Given the description of an element on the screen output the (x, y) to click on. 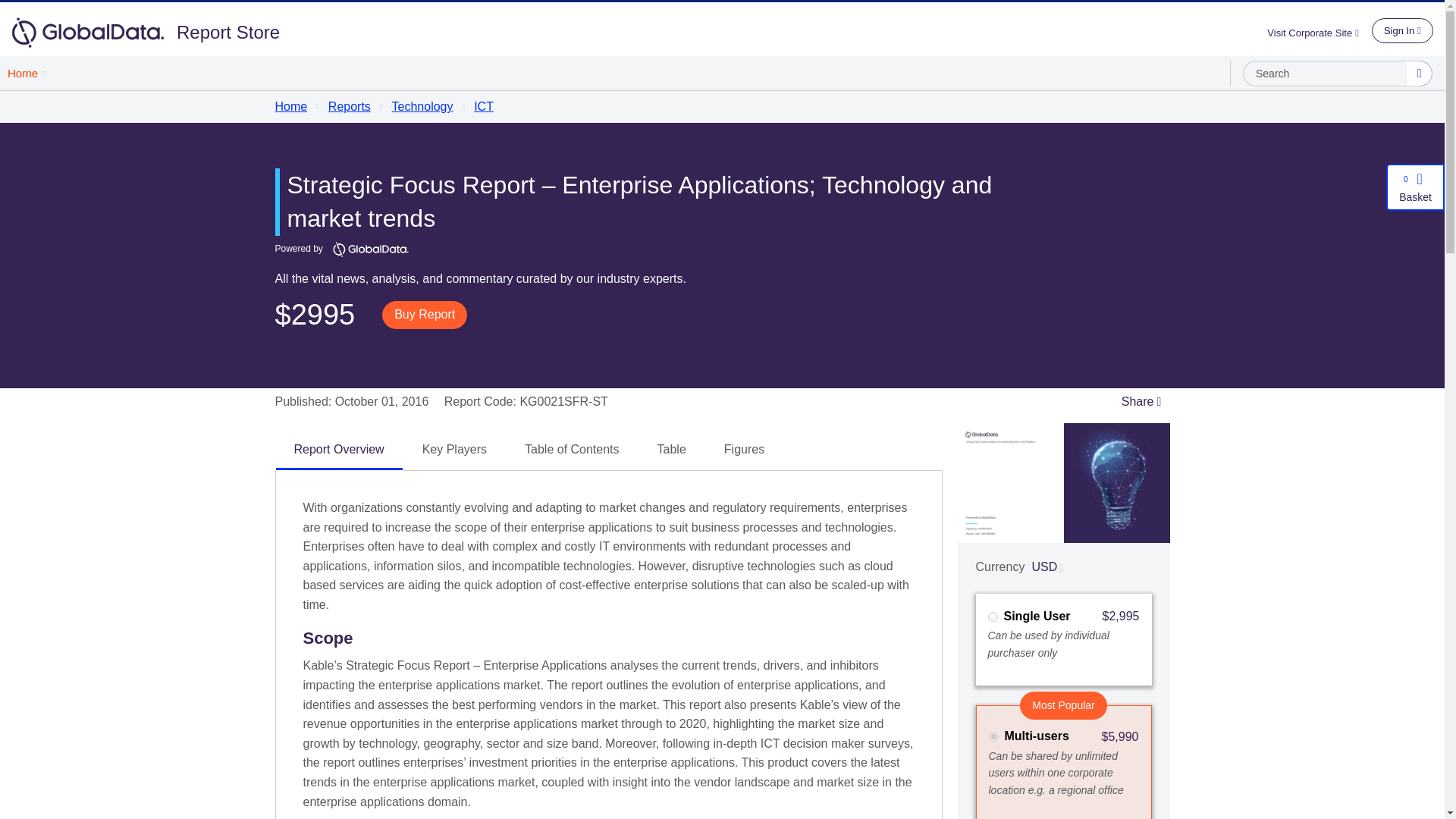
Home (26, 73)
895848 (992, 615)
Visit Corporate Site (1318, 31)
Sign In (1401, 30)
895849 (993, 737)
